Given the description of an element on the screen output the (x, y) to click on. 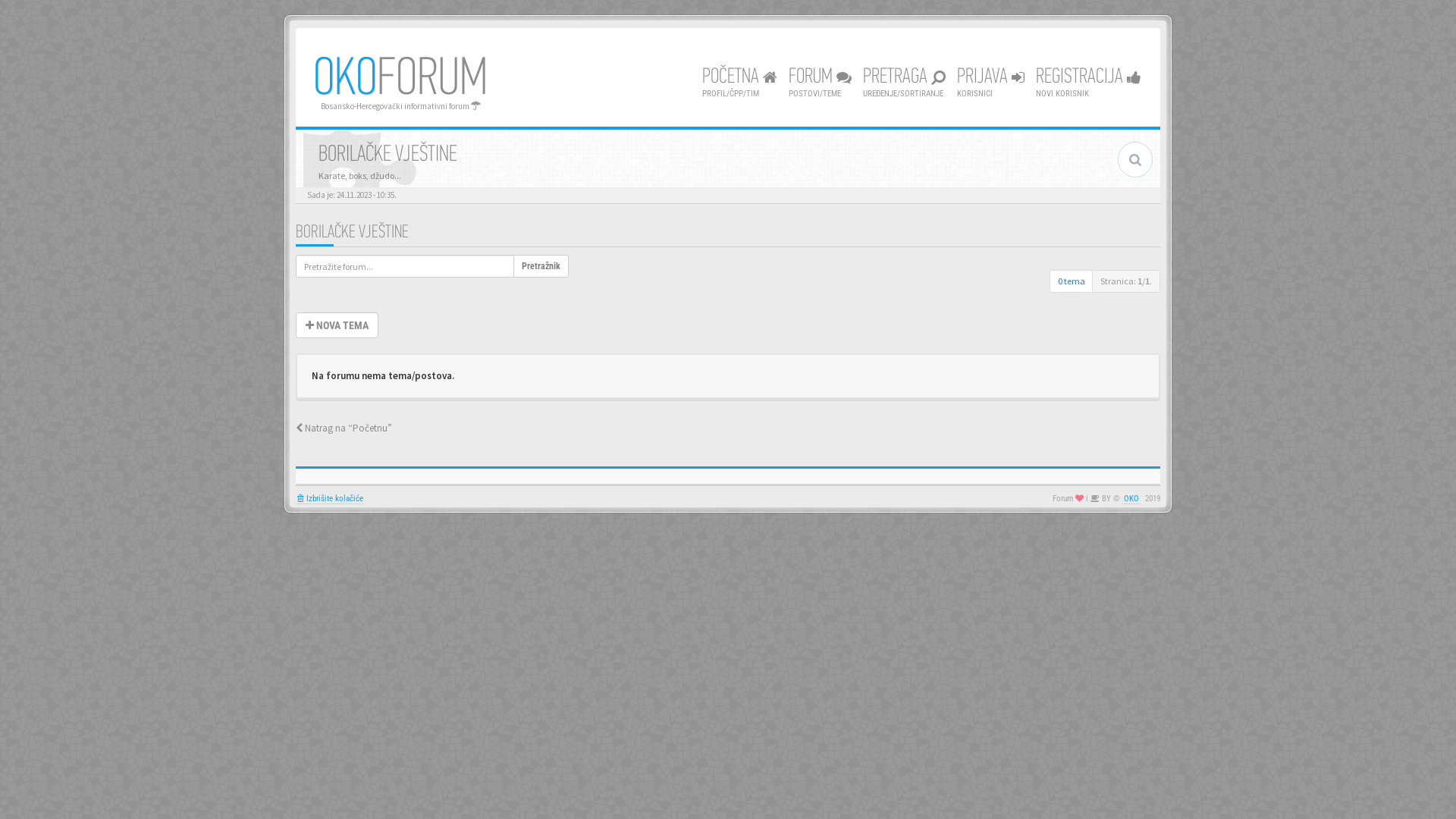
PRIJAVA Element type: text (990, 82)
OKOFORUM Element type: text (400, 80)
REGISTRACIJA Element type: text (1088, 82)
 NOVA TEMA Element type: text (336, 325)
0 tema Element type: text (1071, 280)
PRETRAGA Element type: text (904, 82)
Stranica: 1/1. Element type: text (1126, 280)
OKO Element type: text (1131, 498)
FORUM Element type: text (819, 82)
